Given the description of an element on the screen output the (x, y) to click on. 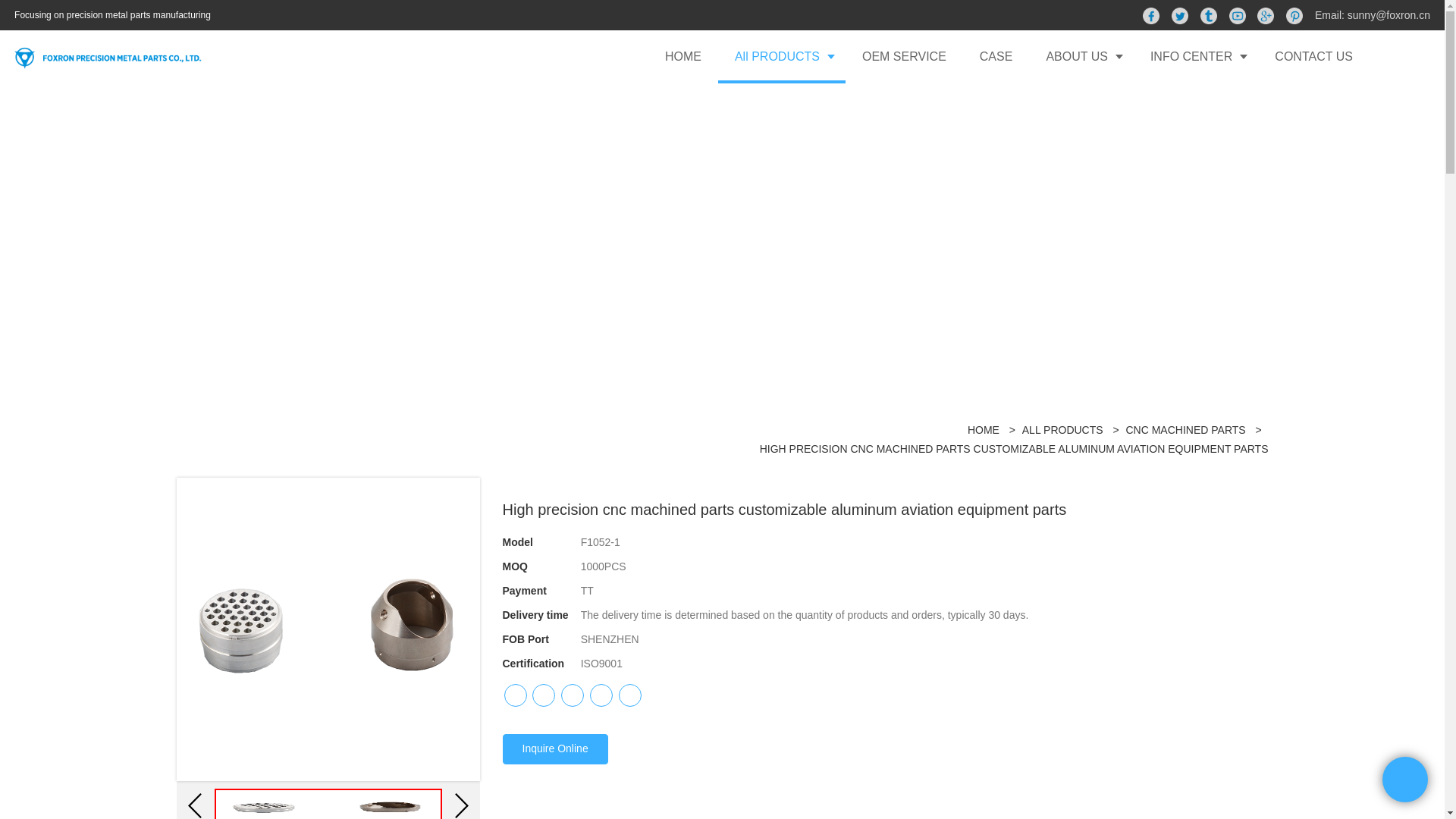
All PRODUCTS (781, 56)
INFO CENTER (1195, 56)
CASE (995, 56)
CNC MACHINED PARTS (1184, 429)
ABOUT US (1081, 56)
CONTACT US (1313, 56)
ALL PRODUCTS (1062, 429)
Email: (1331, 15)
OEM SERVICE (903, 56)
HOME (682, 56)
